Given the description of an element on the screen output the (x, y) to click on. 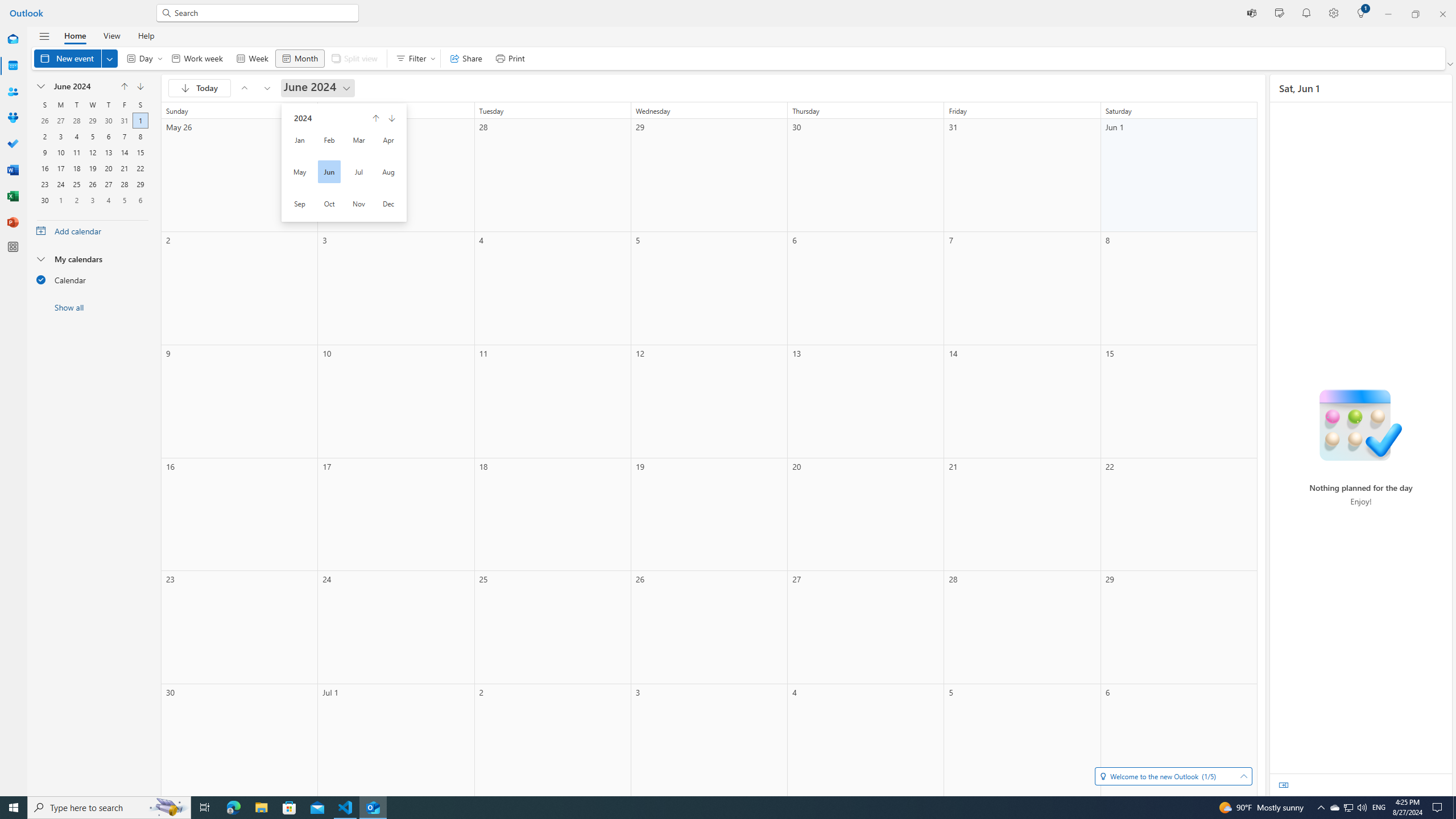
Help (146, 35)
23, June, 2024 (44, 183)
24, June, 2024 (60, 183)
10, June, 2024 (59, 151)
2, June, 2024 (44, 135)
Thursday (108, 104)
Sunday (44, 104)
14, June, 2024 (124, 151)
System (6, 6)
8, June, 2024 (140, 135)
19, June, 2024 (92, 167)
